Given the description of an element on the screen output the (x, y) to click on. 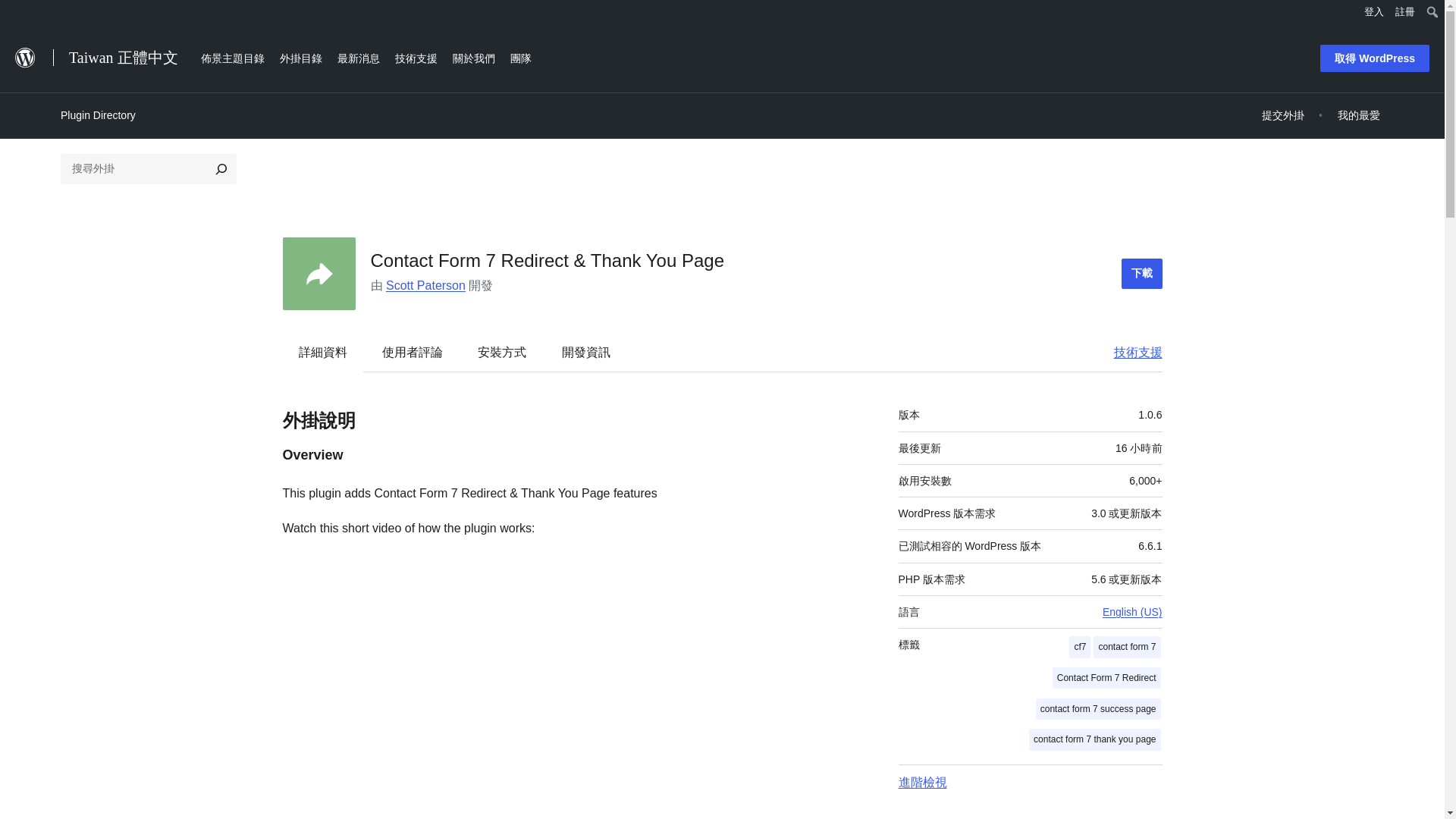
Plugin Directory (97, 115)
Scott Paterson (425, 285)
